Given the description of an element on the screen output the (x, y) to click on. 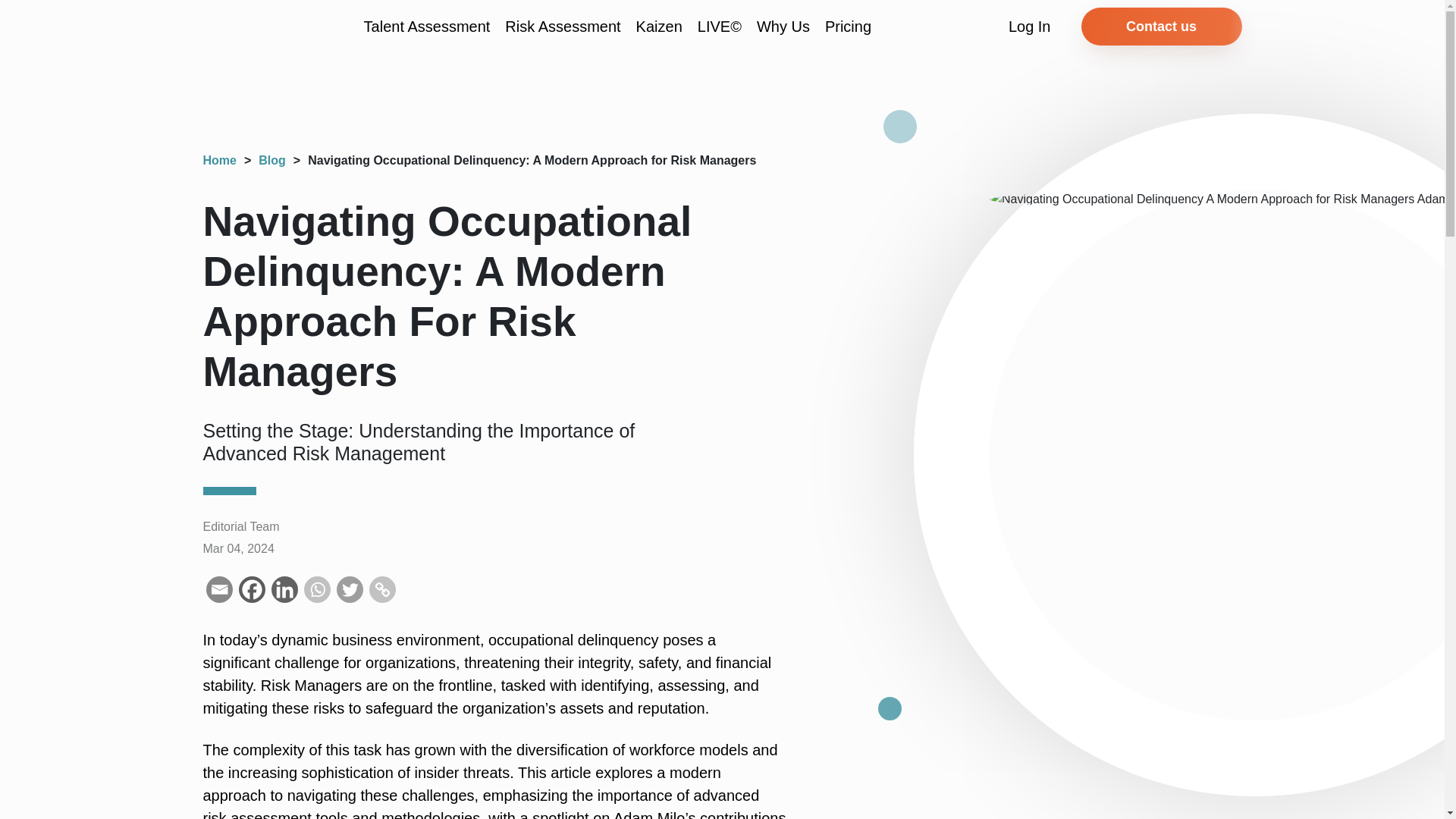
Facebook (251, 589)
Risk Assessment (562, 26)
Pricing (847, 26)
Blog (272, 160)
Whatsapp (316, 589)
Pricing (847, 26)
Why Us (783, 26)
Twitter (349, 589)
Talent Assessment (427, 26)
Risk Assessment (562, 26)
Home (219, 160)
Kaizen (659, 26)
Email (219, 589)
Contact us (1161, 26)
Talent Assessment (427, 26)
